Given the description of an element on the screen output the (x, y) to click on. 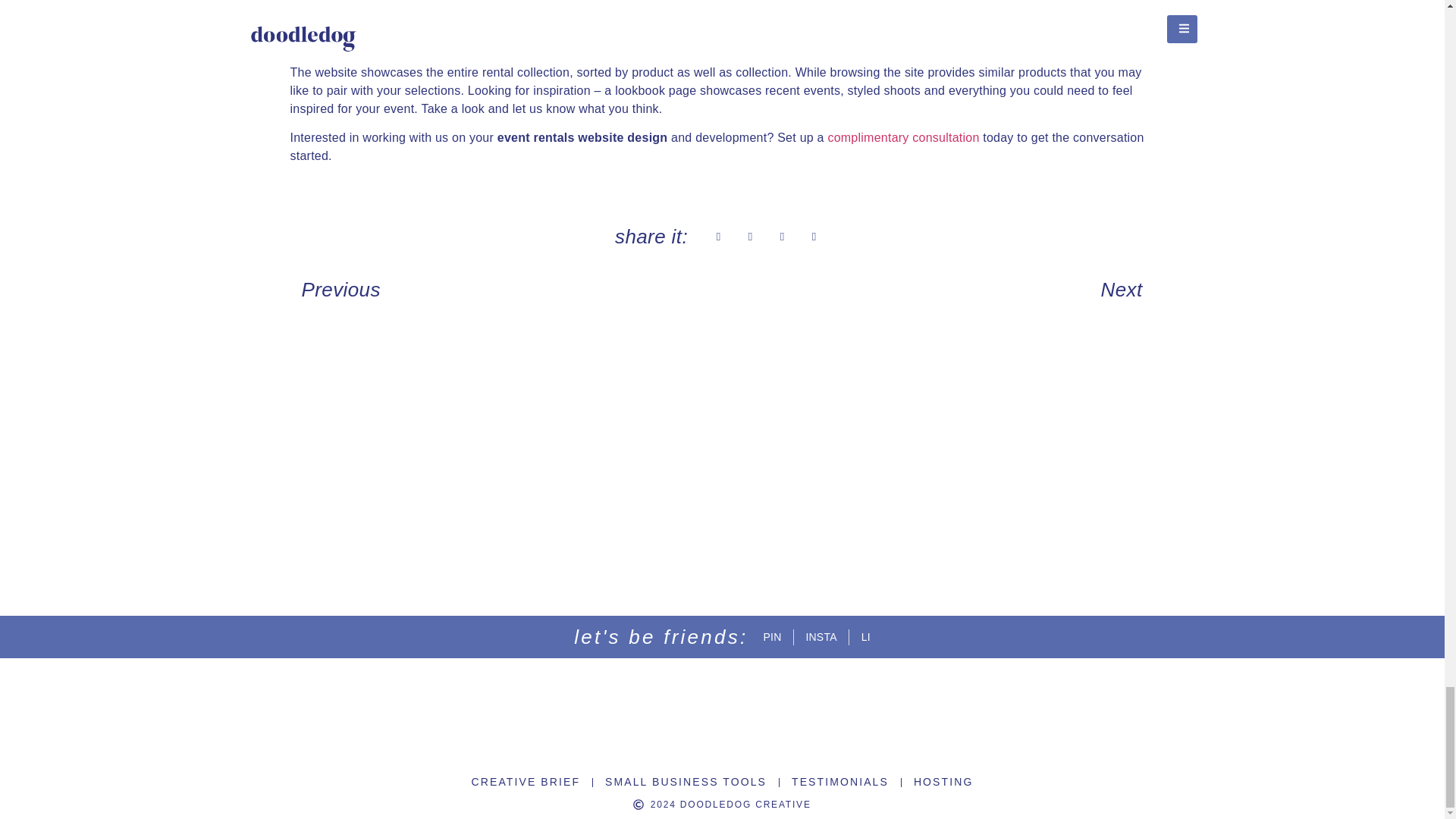
Next (938, 289)
SMALL BUSINESS TOOLS (686, 781)
PIN (771, 637)
complimentary consultation (902, 137)
INSTA (820, 637)
TESTIMONIALS (840, 781)
HOSTING (943, 781)
CREATIVE BRIEF (525, 781)
Previous (505, 289)
